Given the description of an element on the screen output the (x, y) to click on. 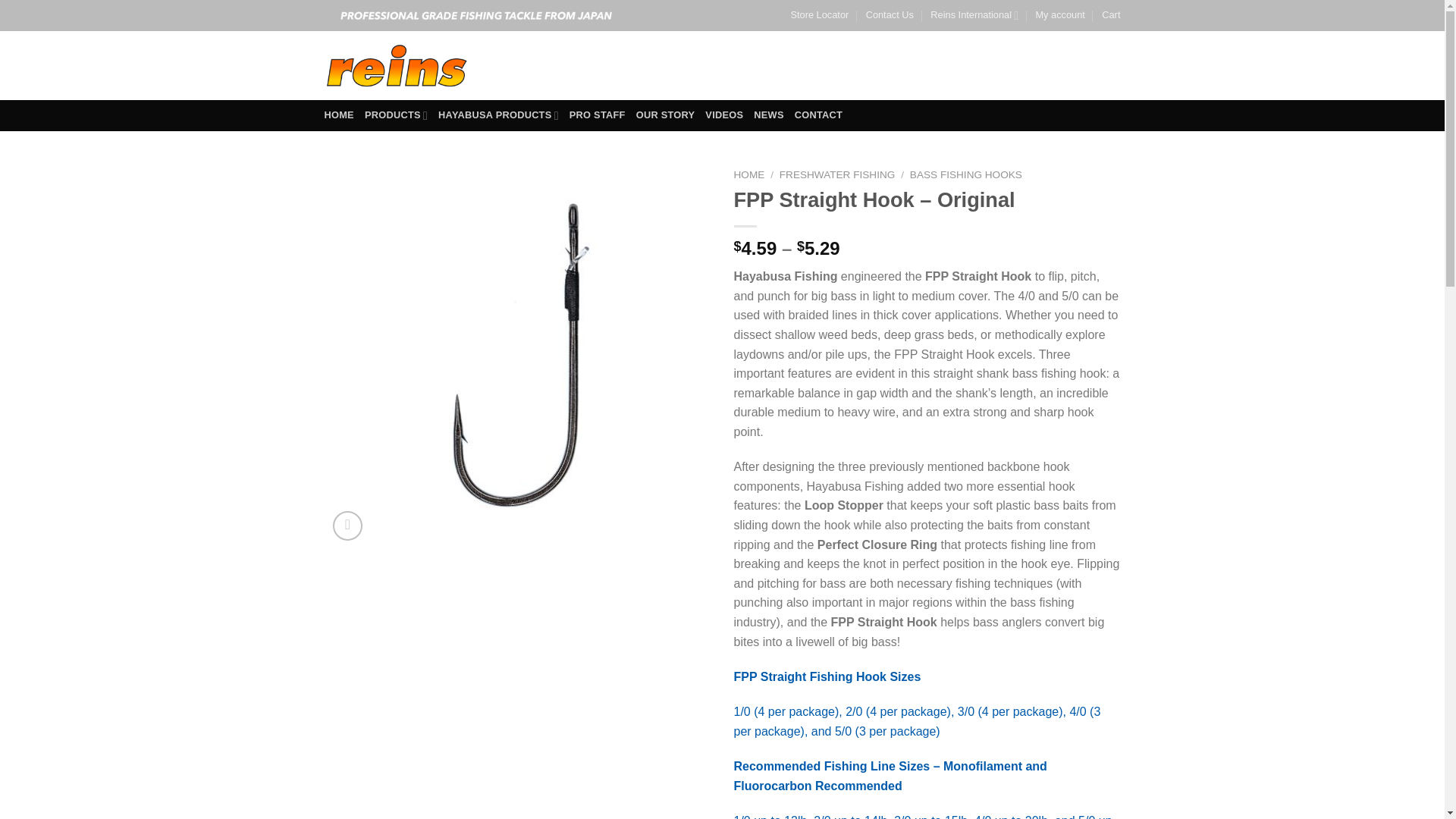
Follow on YouTube (1109, 65)
HOME (338, 114)
Reins Fishing (396, 65)
Zoom (347, 525)
PRO STAFF (597, 114)
Contact Us (890, 15)
Reins International (973, 15)
PRODUCTS (396, 114)
Store Locator (819, 15)
HAYABUSA PRODUCTS (498, 114)
My account (1059, 15)
Send us an email (1090, 65)
